Given the description of an element on the screen output the (x, y) to click on. 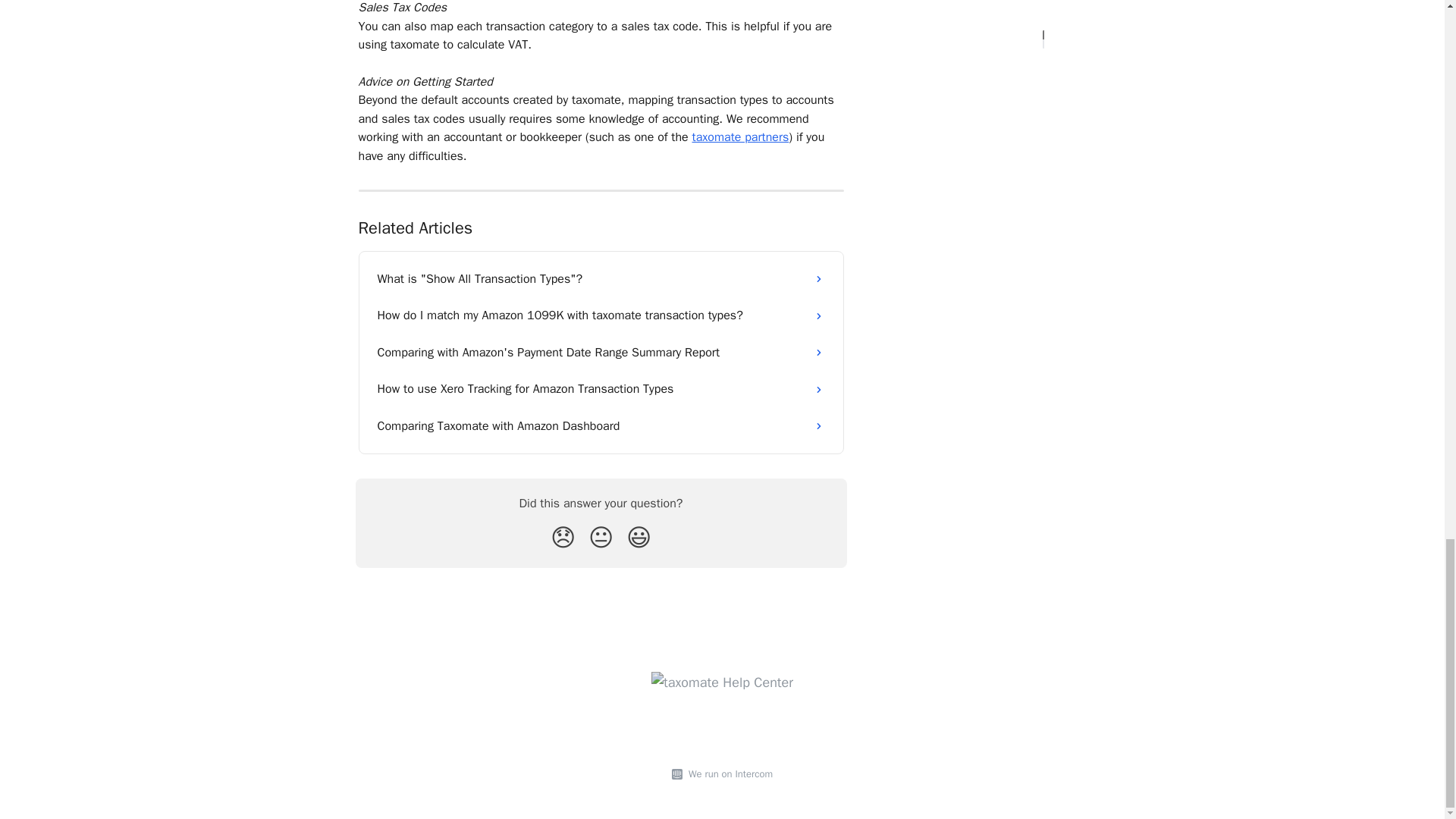
We run on Intercom (727, 774)
What is "Show All Transaction Types"? (601, 279)
taxomate partners (741, 136)
How to use Xero Tracking for Amazon Transaction Types (601, 389)
Comparing with Amazon's Payment Date Range Summary Report (601, 352)
Comparing Taxomate with Amazon Dashboard (601, 425)
